Given the description of an element on the screen output the (x, y) to click on. 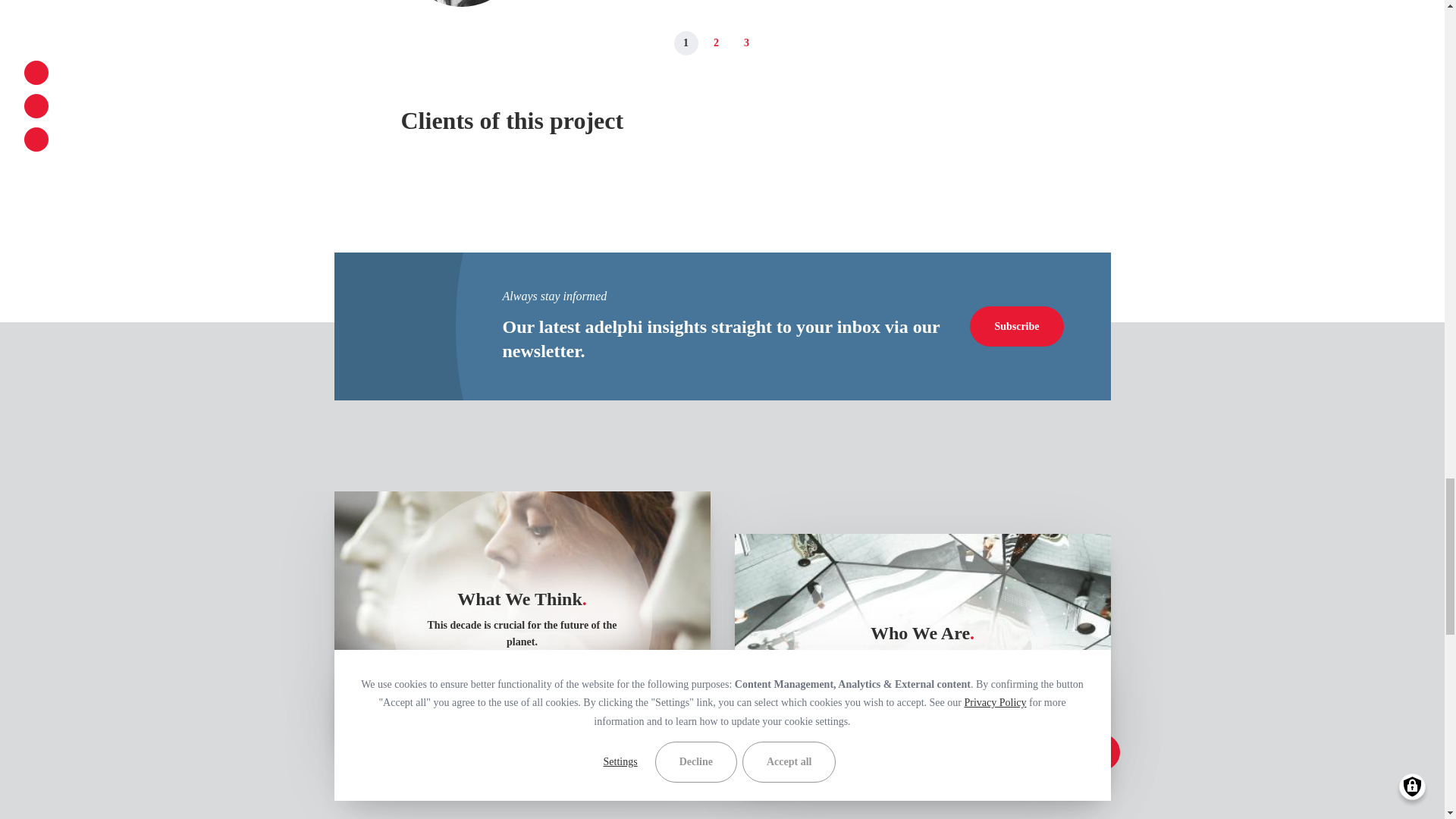
Go to next page (776, 43)
Go to page 2 (715, 43)
Go to page 3 (745, 43)
